Given the description of an element on the screen output the (x, y) to click on. 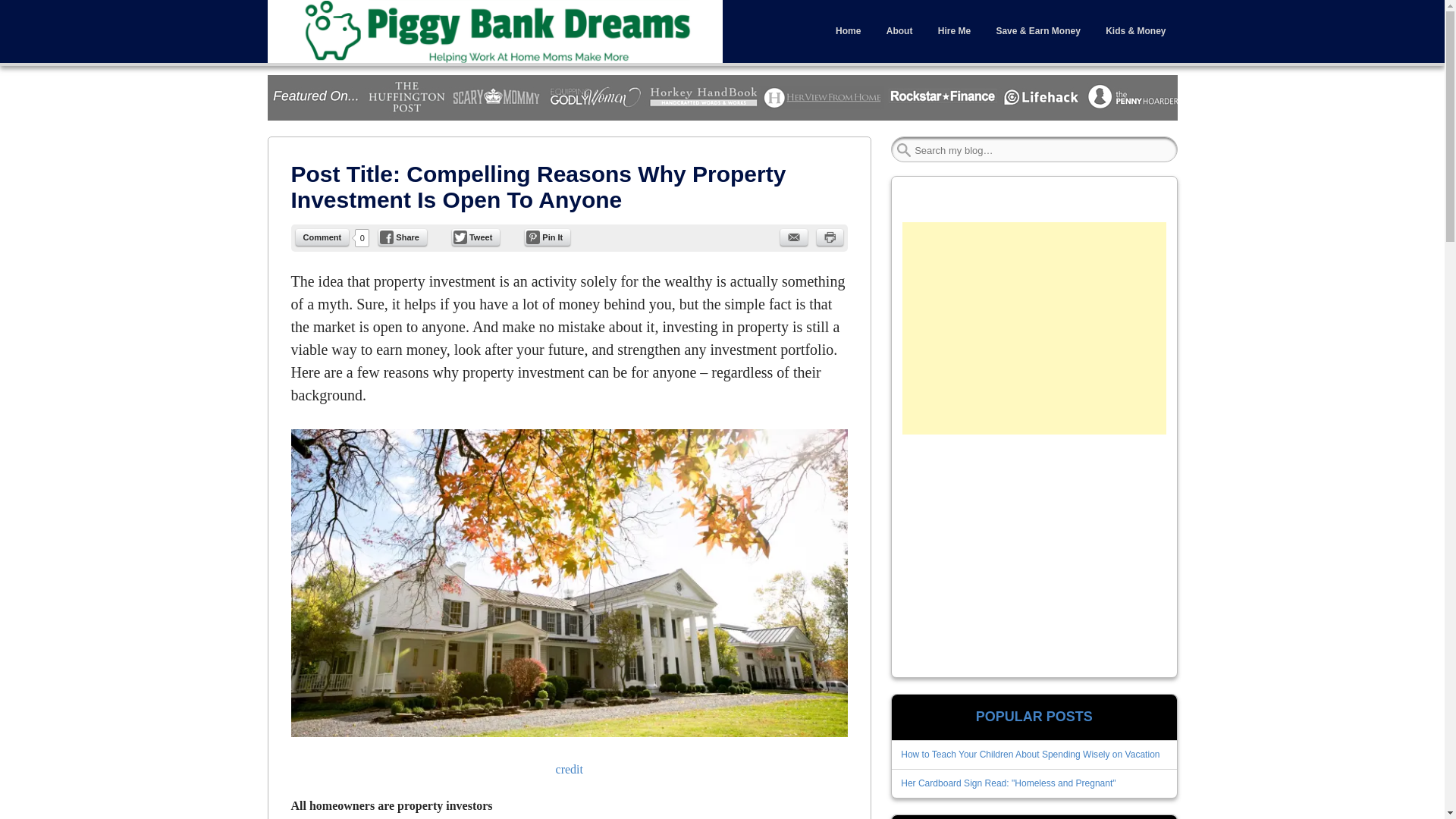
Pin It (547, 237)
Skip to content (299, 10)
Share on Facebook (402, 237)
Home (848, 30)
credit (569, 768)
Tweet (475, 237)
Skip to content (299, 10)
Hire Me (953, 30)
Piggy Bank Dreams (352, 73)
Piggy Bank Dreams (352, 73)
About (899, 30)
print (829, 237)
Advertisement (1031, 550)
Share (402, 237)
Piggy Bank Dreams (494, 31)
